Given the description of an element on the screen output the (x, y) to click on. 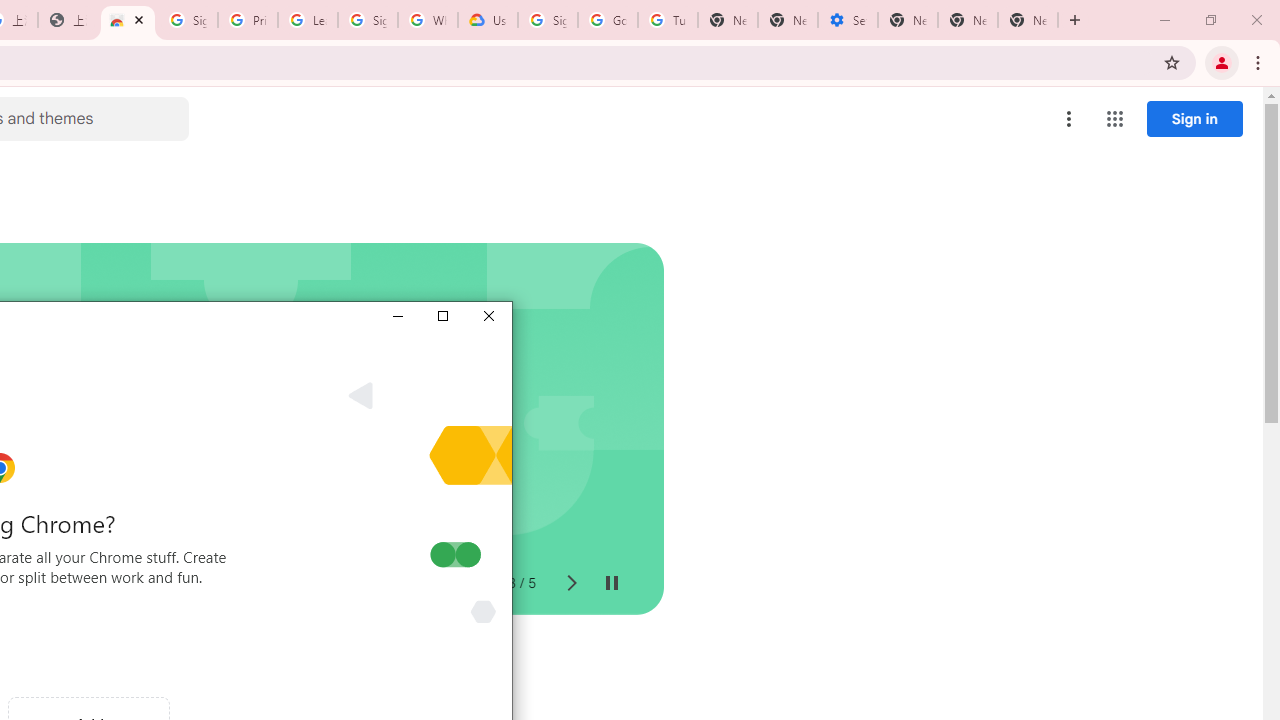
New Tab (908, 20)
Sign in - Google Accounts (187, 20)
New Tab (1028, 20)
Settings - Addresses and more (847, 20)
Pause auto-play (611, 583)
Google Account Help (607, 20)
More options menu (1069, 118)
Maximize (442, 316)
